Given the description of an element on the screen output the (x, y) to click on. 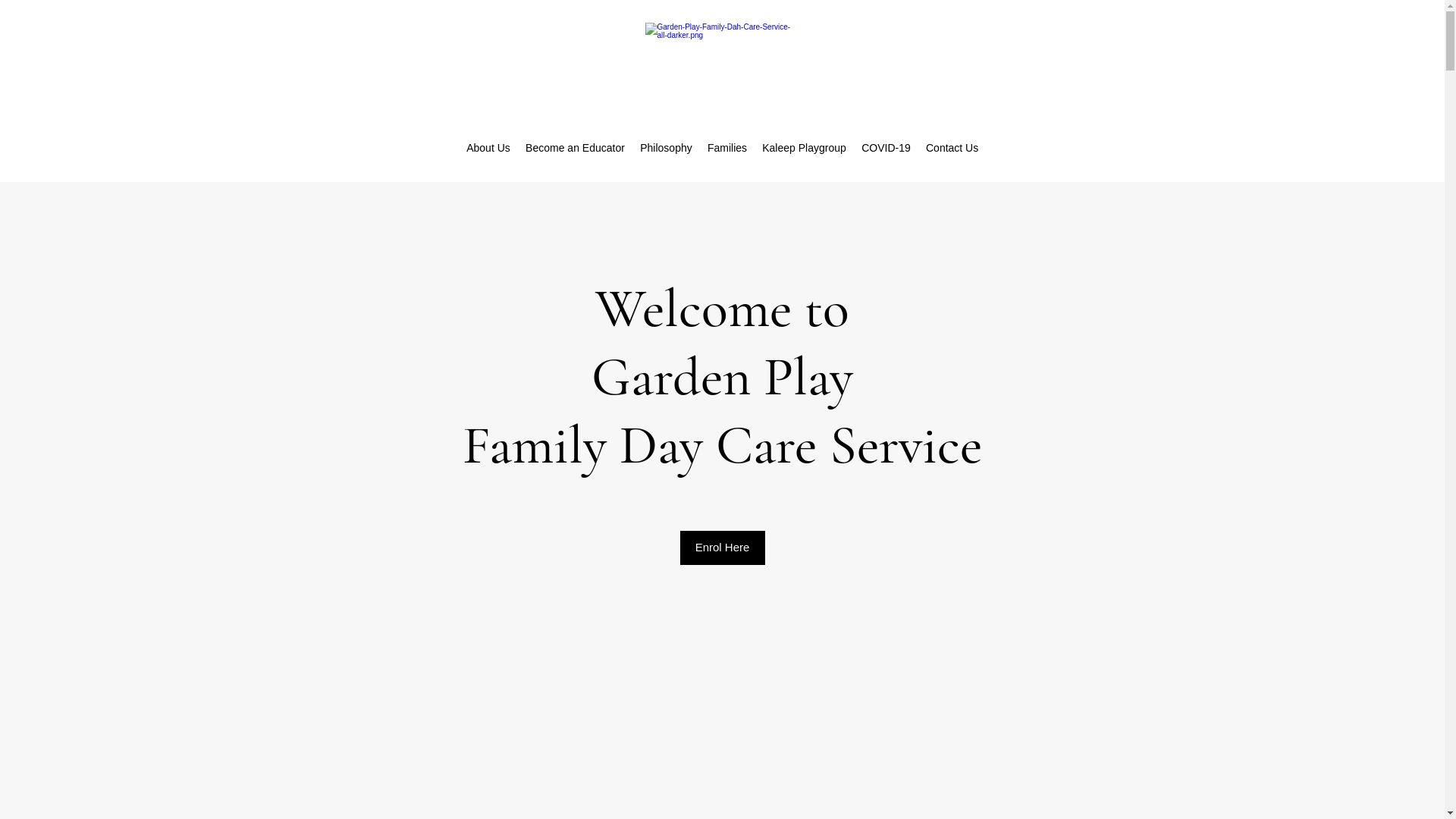
Contact Us Element type: text (951, 147)
Kaleep Playgroup Element type: text (803, 147)
Philosophy Element type: text (665, 147)
Families Element type: text (726, 147)
About Us Element type: text (487, 147)
COVID-19 Element type: text (885, 147)
Become an Educator Element type: text (574, 147)
Enrol Here Element type: text (721, 547)
